Given the description of an element on the screen output the (x, y) to click on. 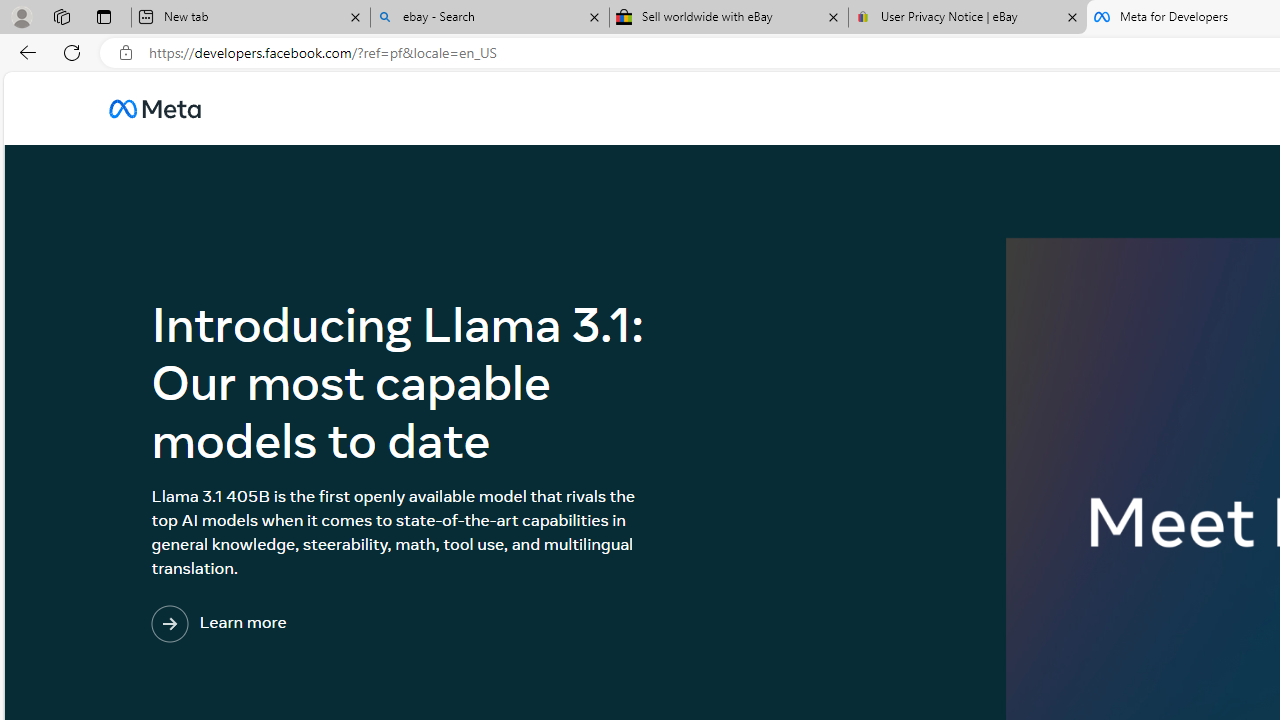
User Privacy Notice | eBay (967, 17)
Learn more (301, 624)
AutomationID: u_0_25_3H (155, 107)
